Given the description of an element on the screen output the (x, y) to click on. 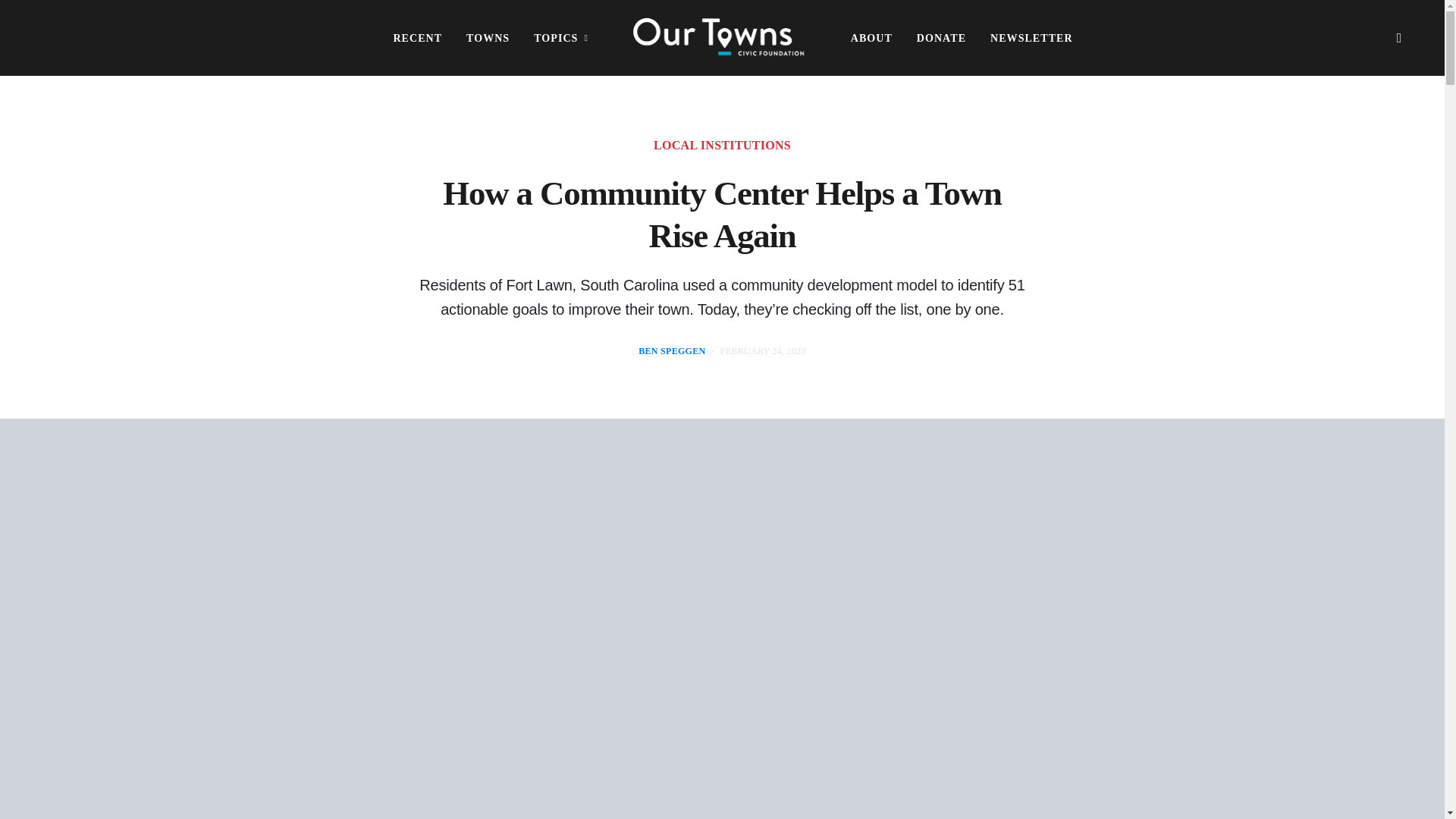
View all posts by Ben Speggen (671, 350)
Visit homepage (718, 38)
